Given the description of an element on the screen output the (x, y) to click on. 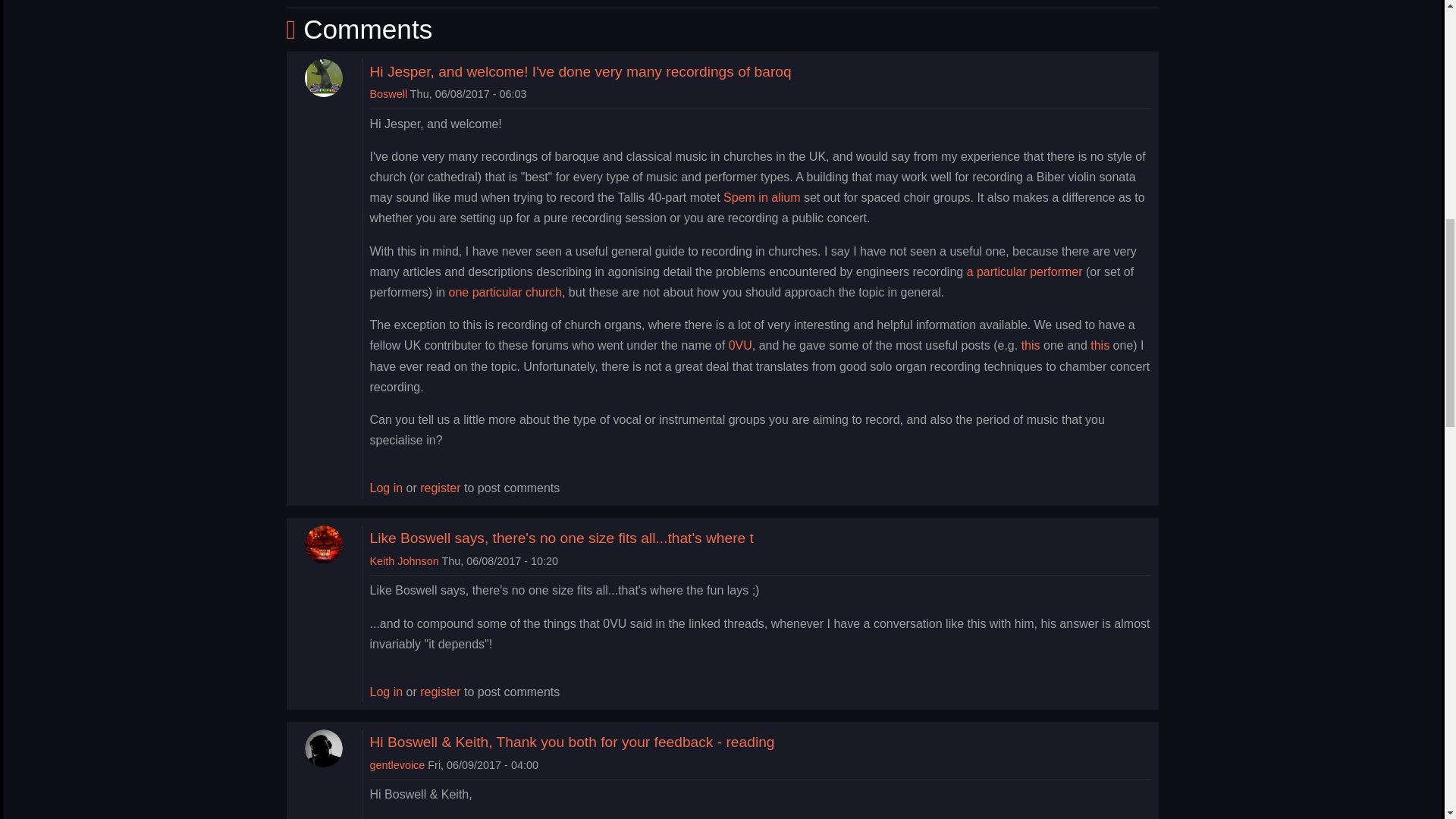
View user profile. (404, 561)
this (1032, 345)
Log in (386, 487)
register (440, 487)
Log in (386, 691)
View user profile. (388, 93)
this (1099, 345)
register (440, 691)
Boswell (388, 93)
